Given the description of an element on the screen output the (x, y) to click on. 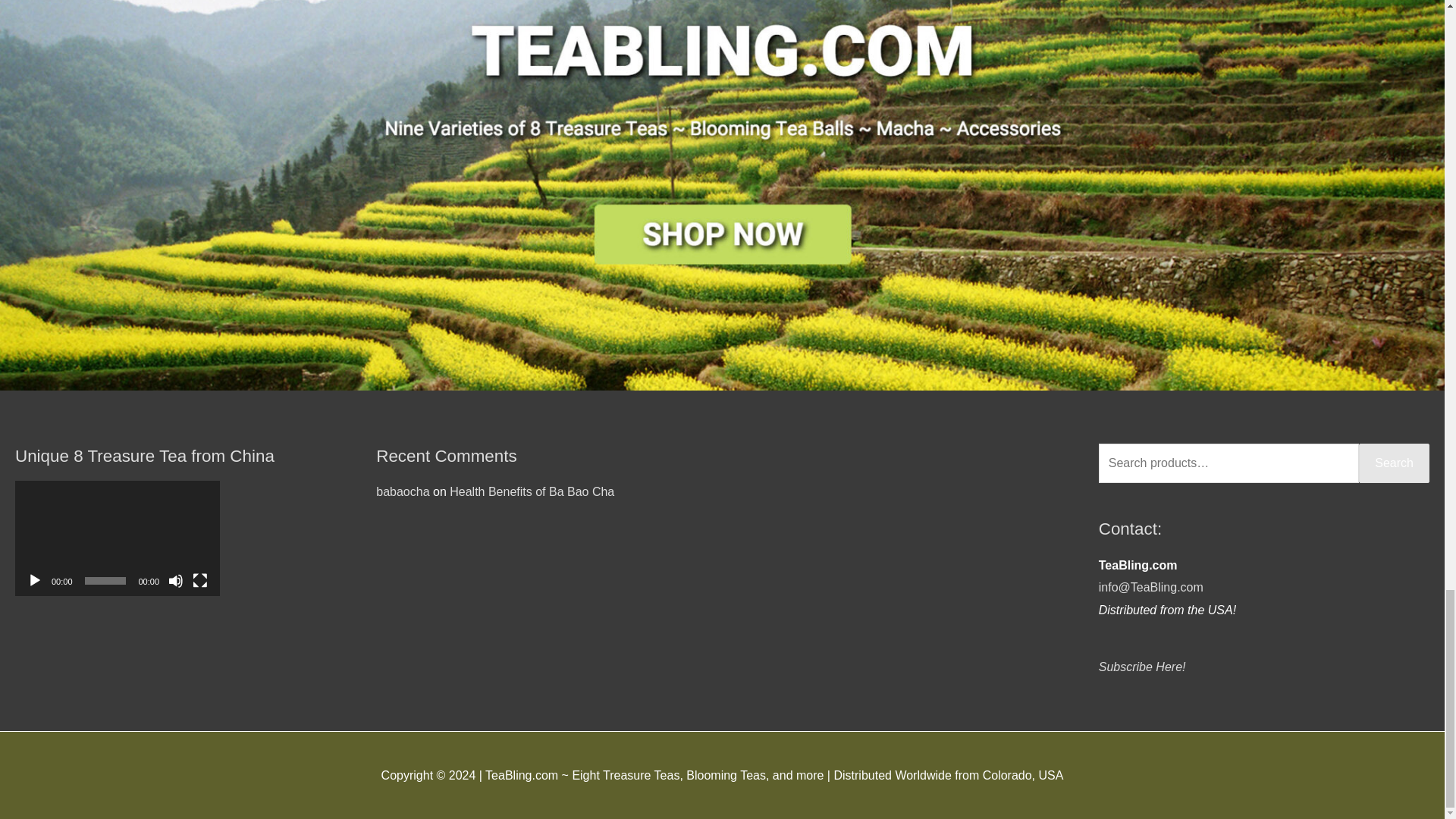
Mute (175, 580)
Fullscreen (200, 580)
Play (34, 580)
